Given the description of an element on the screen output the (x, y) to click on. 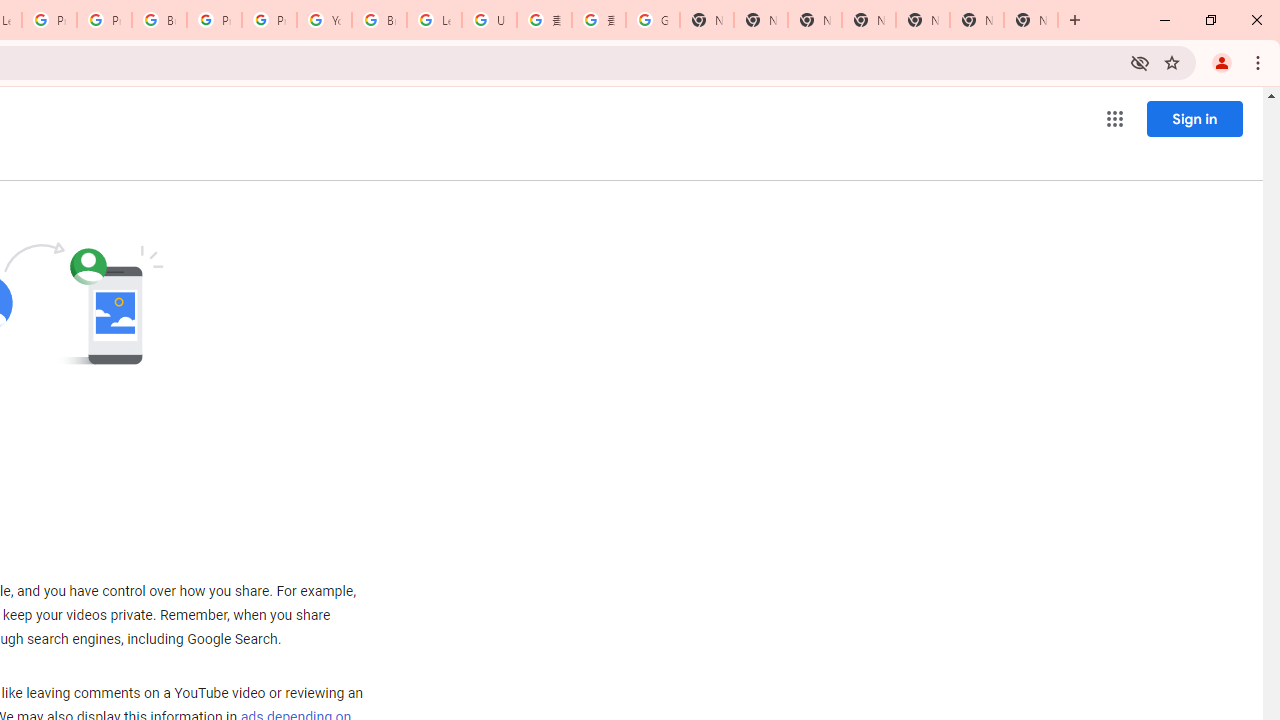
YouTube (324, 20)
New Tab (1030, 20)
Google Images (652, 20)
